Given the description of an element on the screen output the (x, y) to click on. 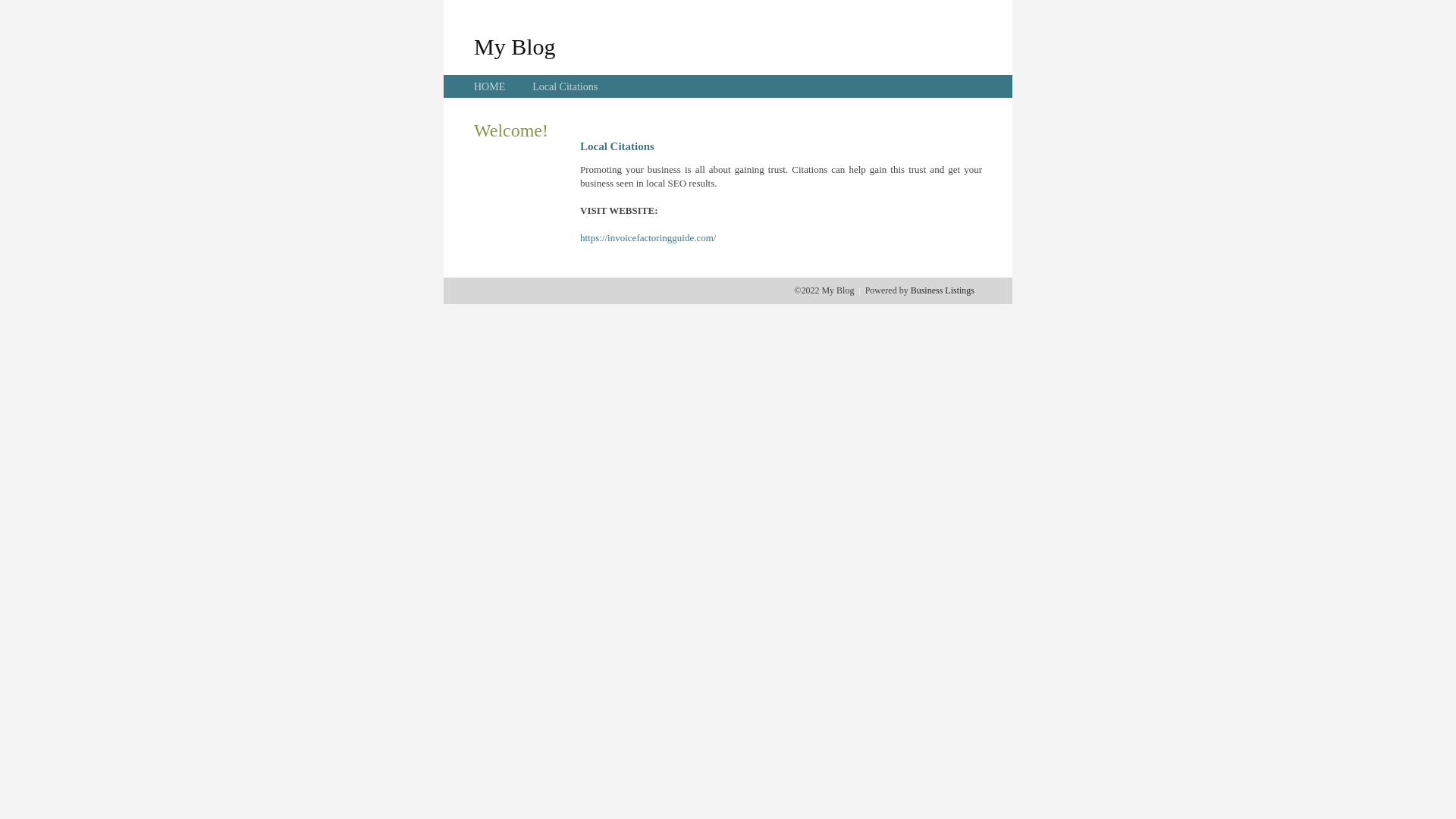
My Blog Element type: text (514, 46)
Business Listings Element type: text (942, 290)
HOME Element type: text (489, 86)
https://invoicefactoringguide.com/ Element type: text (647, 237)
Local Citations Element type: text (564, 86)
